Given the description of an element on the screen output the (x, y) to click on. 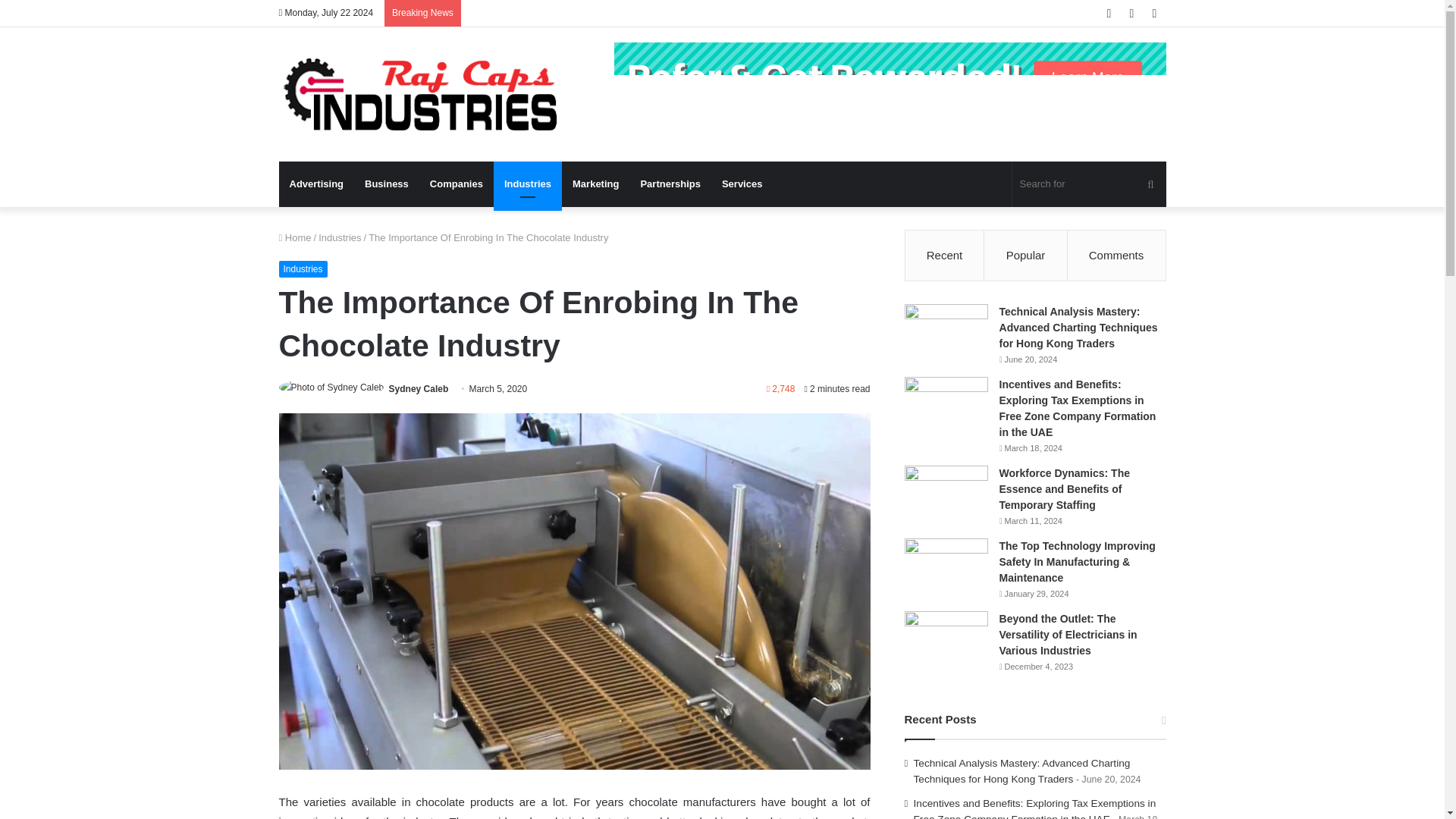
Sydney Caleb (418, 388)
Services (742, 184)
Home (295, 237)
Search for (1150, 184)
Business (386, 184)
Sidebar (1154, 13)
Random Article (1131, 13)
Industries (303, 269)
Search for (1088, 184)
Companies (456, 184)
Industries (339, 237)
Marketing (595, 184)
Log In (1109, 13)
Industries (527, 184)
Random Article (1131, 13)
